Given the description of an element on the screen output the (x, y) to click on. 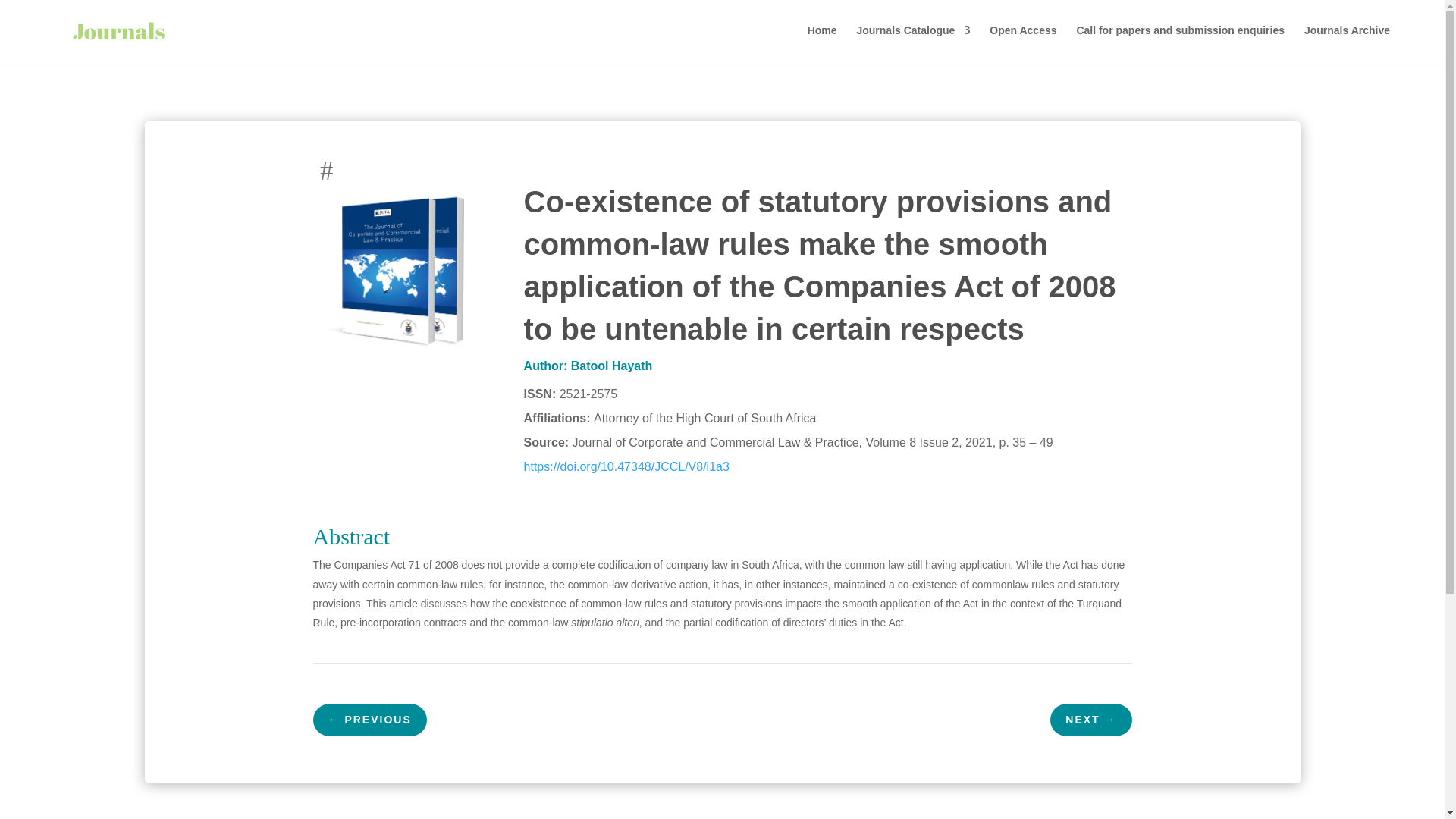
Journals Catalogue (912, 42)
Open Access (1023, 42)
Journals Archive (1347, 42)
Call for papers and submission enquiries (1179, 42)
